Given the description of an element on the screen output the (x, y) to click on. 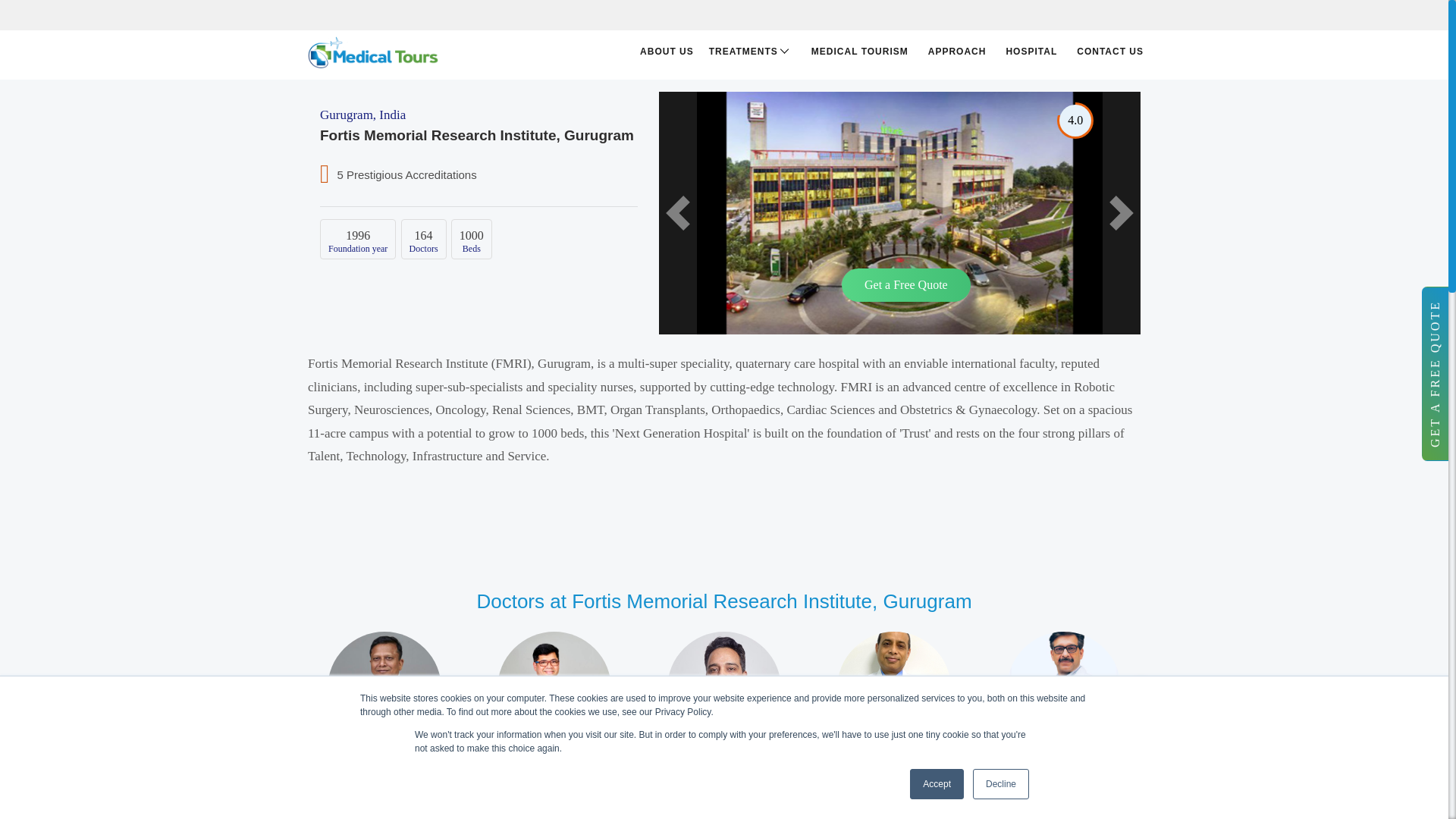
ABOUT US (661, 52)
TREATMENTS (748, 51)
Decline (1000, 784)
Accept (936, 784)
